Given the description of an element on the screen output the (x, y) to click on. 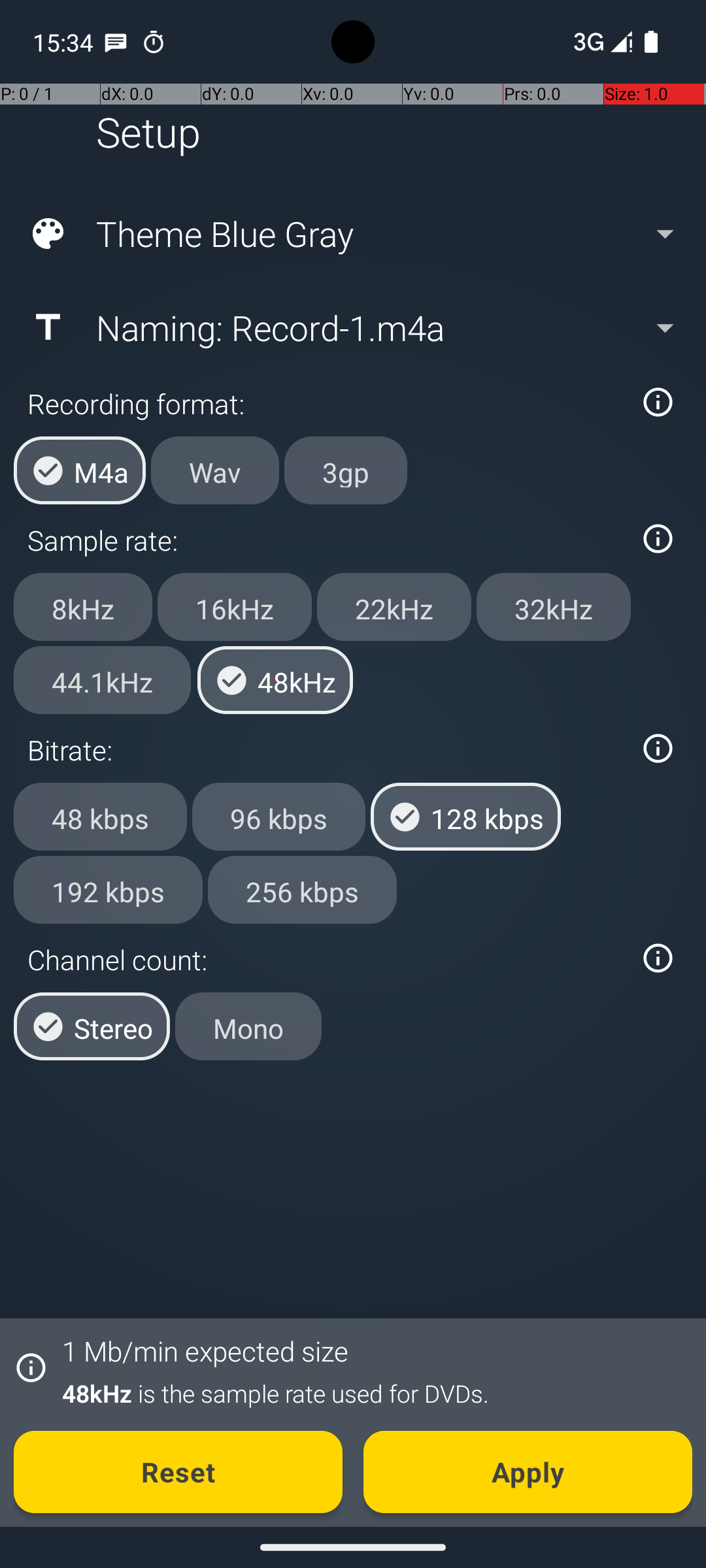
48kHz is the sample rate used for DVDs. Element type: android.widget.TextView (370, 1392)
